Given the description of an element on the screen output the (x, y) to click on. 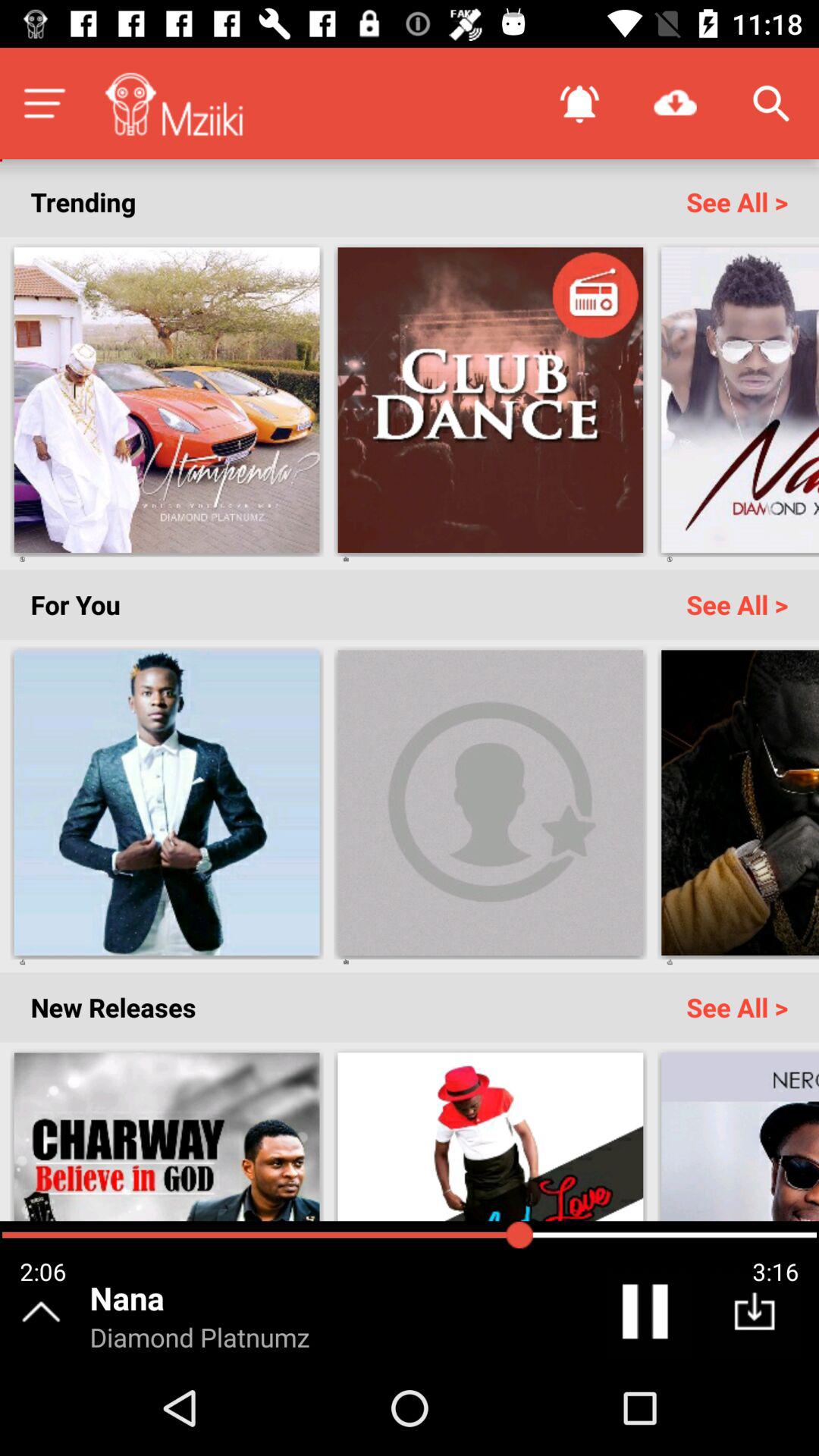
open options menu (44, 103)
